Given the description of an element on the screen output the (x, y) to click on. 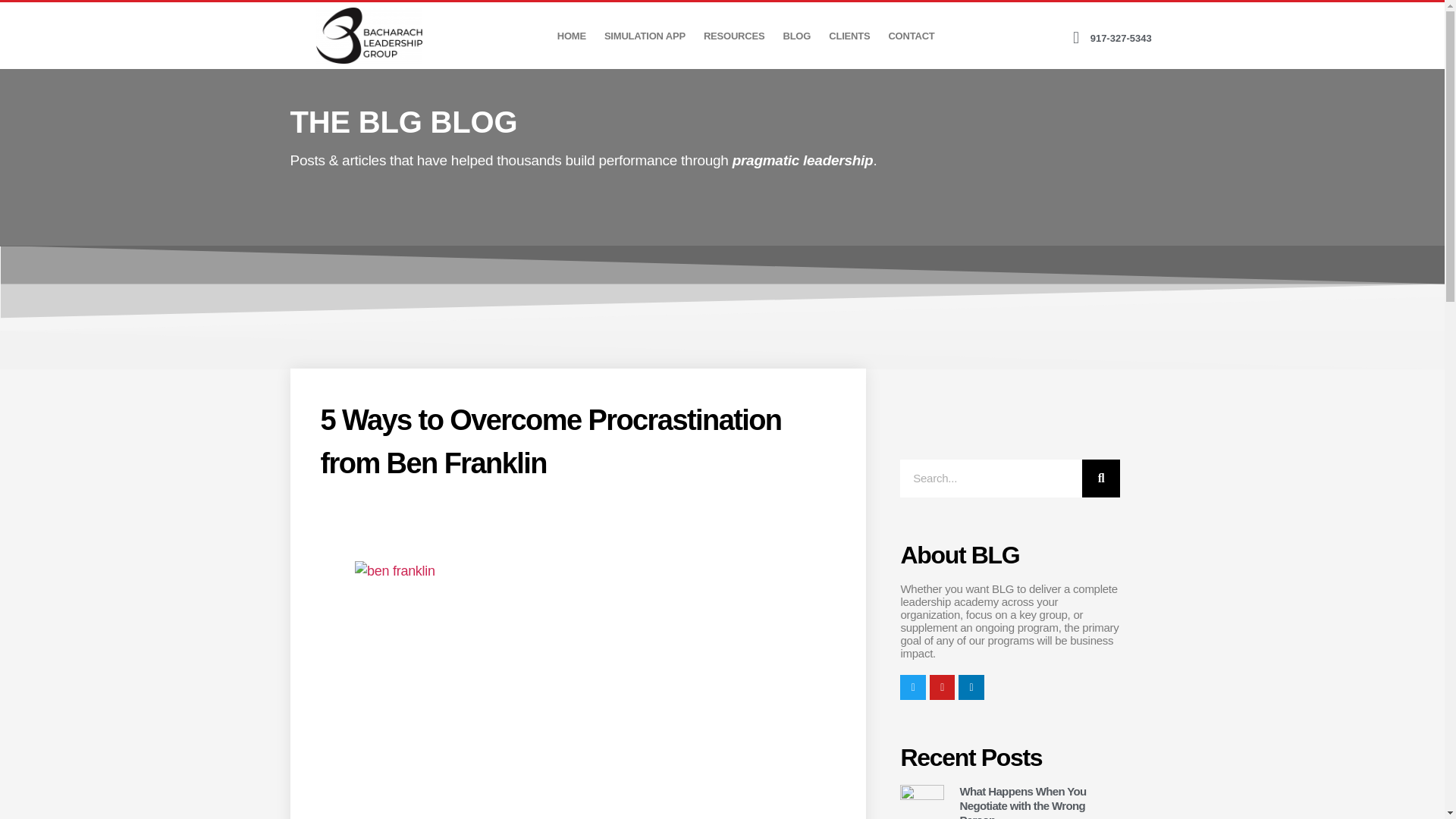
917-327-5343 (1096, 38)
RESOURCES (734, 36)
CONTACT (911, 36)
SIMULATION APP (644, 36)
HOME (571, 36)
CLIENTS (849, 36)
BLOG (796, 36)
What Happens When You Negotiate with the Wrong Person (1022, 801)
Search (1100, 478)
Search (990, 478)
